Given the description of an element on the screen output the (x, y) to click on. 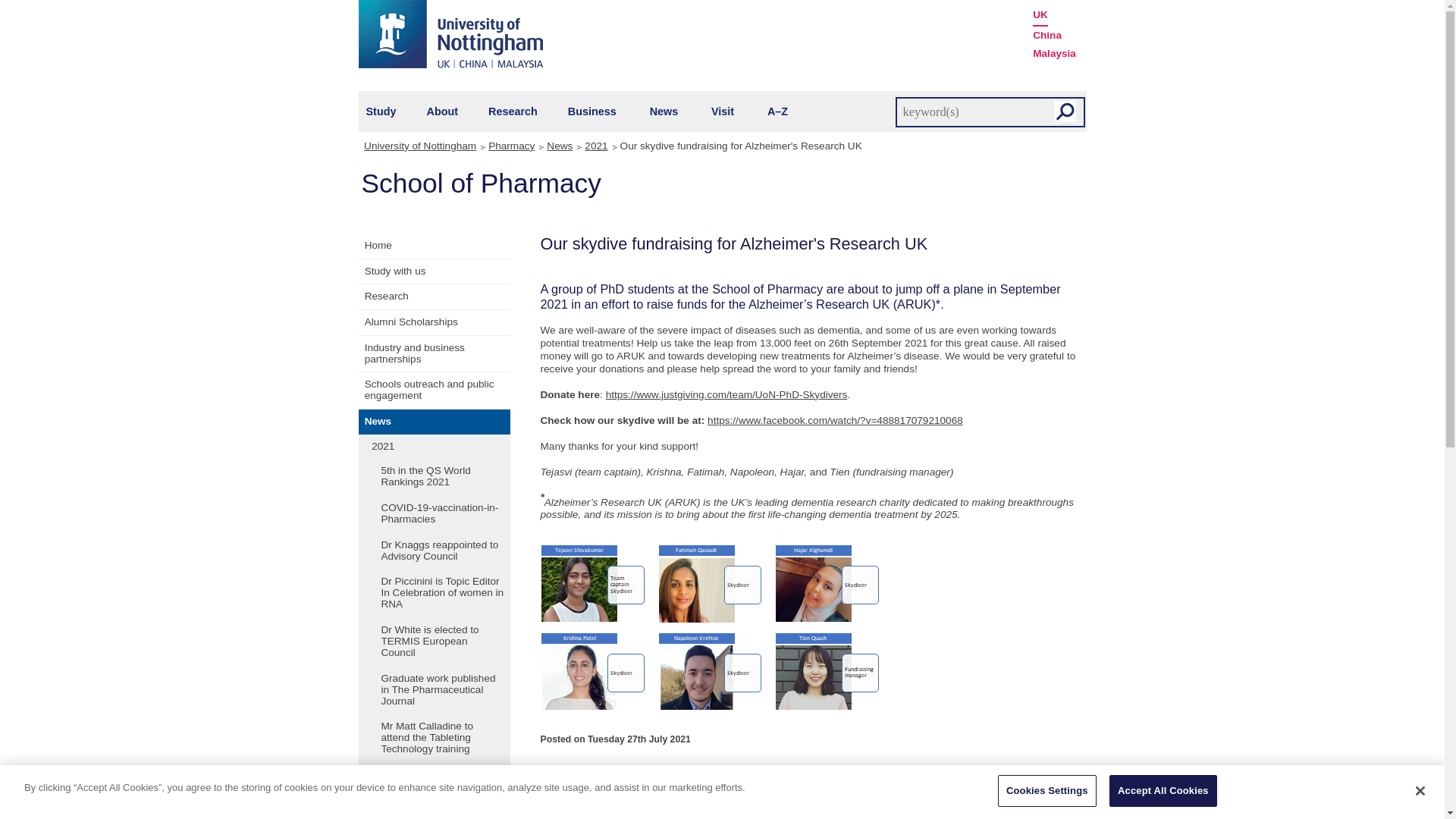
University of Nottingham (449, 33)
GO (1064, 111)
UK (1040, 15)
Go to Pharmacy from here (513, 145)
Study with us (380, 110)
Go to University of Nottingham from here (424, 145)
Research (512, 110)
Go to News from here (561, 145)
2021 (597, 145)
Working with business (592, 110)
Visit our campuses (722, 110)
2021 (597, 145)
Business (592, 110)
About (442, 110)
About the University of Nottingham (442, 110)
